Given the description of an element on the screen output the (x, y) to click on. 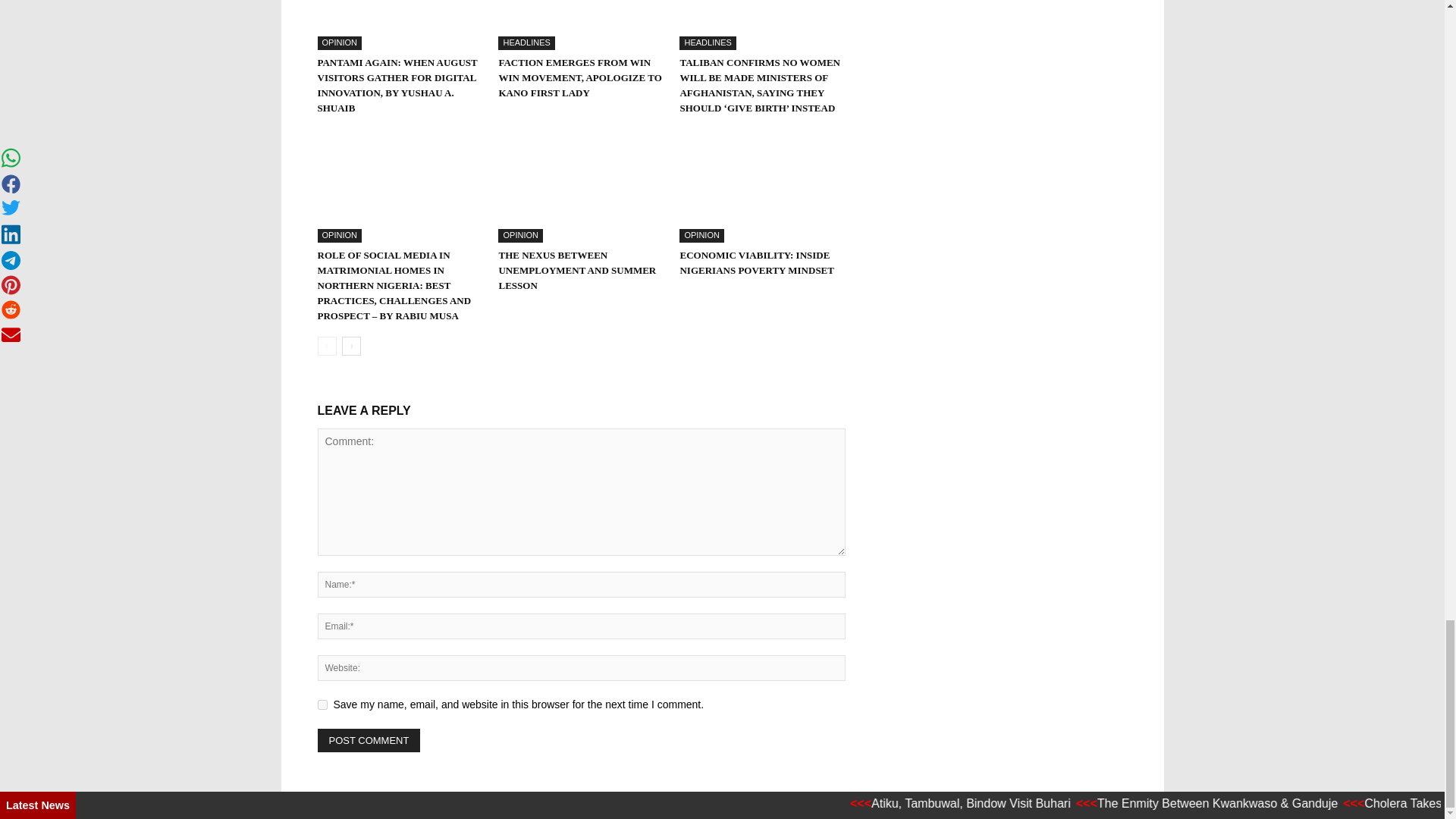
Post Comment (368, 740)
yes (321, 705)
